Given the description of an element on the screen output the (x, y) to click on. 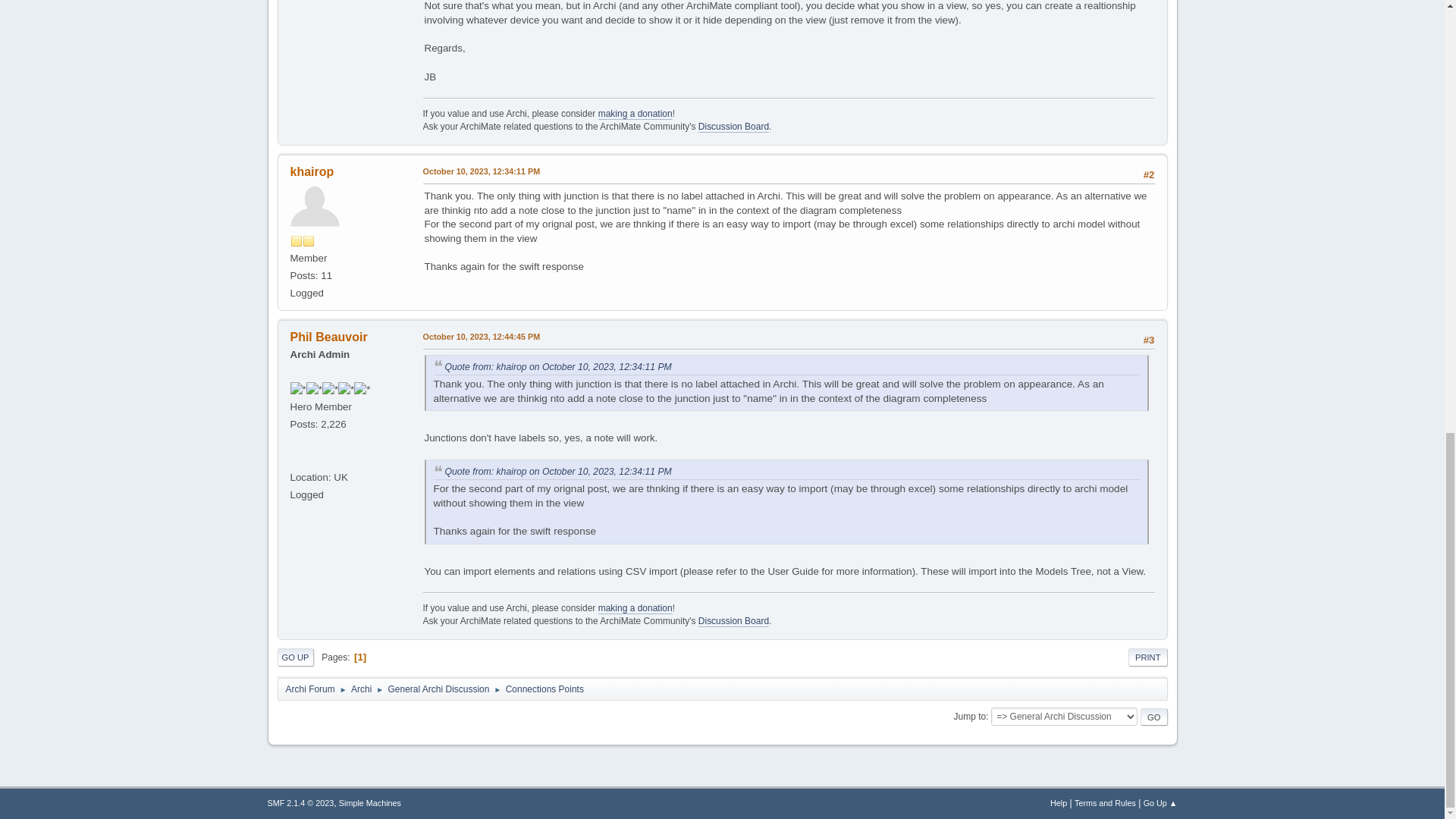
License (299, 802)
View the profile of khairop (311, 171)
making a donation (635, 113)
Male (295, 441)
Archi (295, 459)
khairop (311, 171)
Simple Machines (370, 802)
View the profile of Phil Beauvoir (327, 336)
Archi (295, 460)
Discussion Board (733, 126)
